Given the description of an element on the screen output the (x, y) to click on. 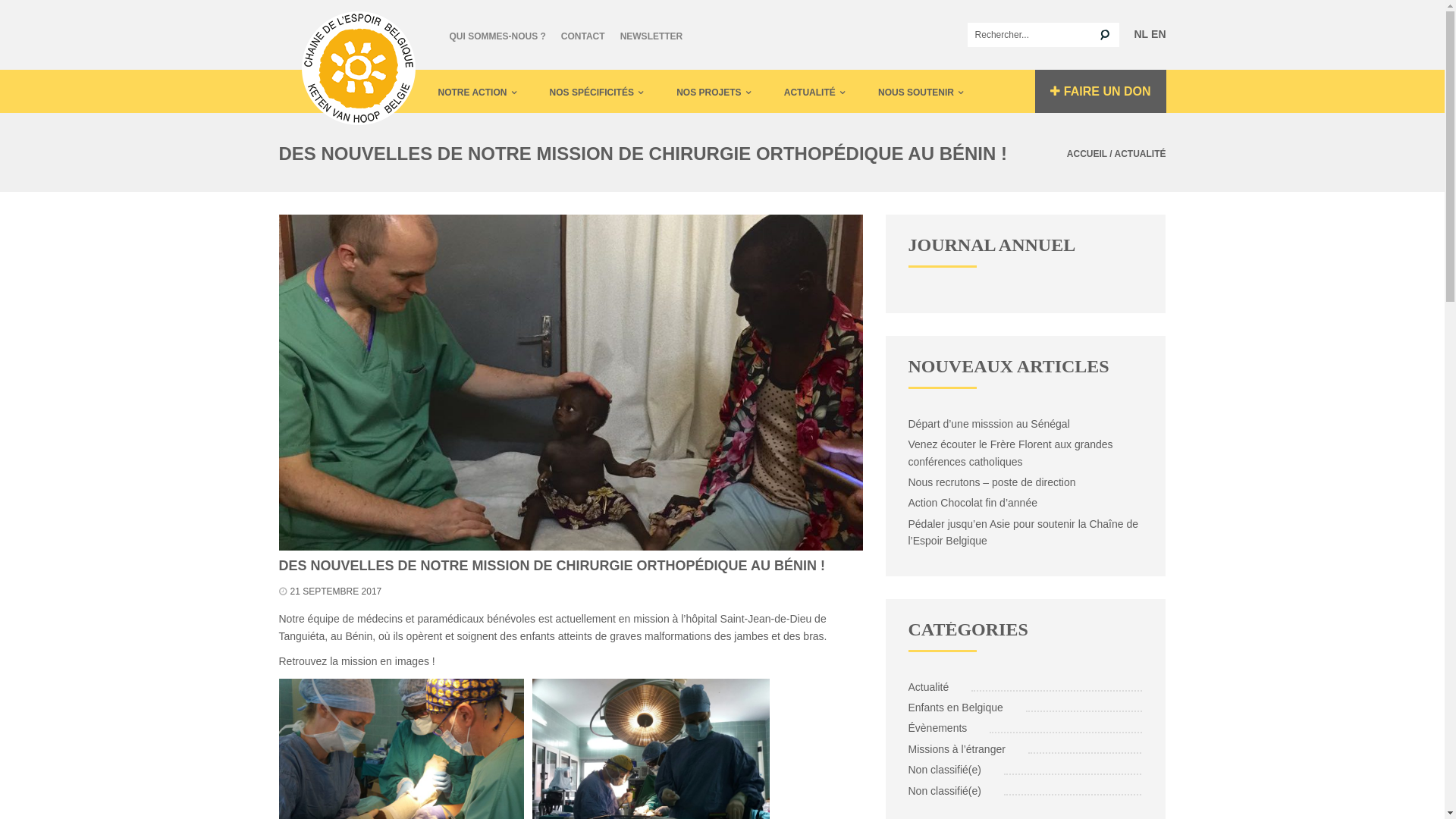
NEWSLETTER Element type: text (651, 34)
NOS PROJETS Element type: text (713, 90)
NOUS SOUTENIR Element type: text (920, 90)
CONTACT Element type: text (583, 34)
NL Element type: text (1140, 33)
ACCUEIL Element type: text (1086, 153)
EN Element type: text (1158, 33)
21 SEPTEMBRE 2017 Element type: text (335, 591)
QUI SOMMES-NOUS ? Element type: text (496, 34)
NOTRE ACTION Element type: text (477, 90)
FAIRE UN DON Element type: text (1100, 90)
Enfants en Belgique Element type: text (957, 707)
